Given the description of an element on the screen output the (x, y) to click on. 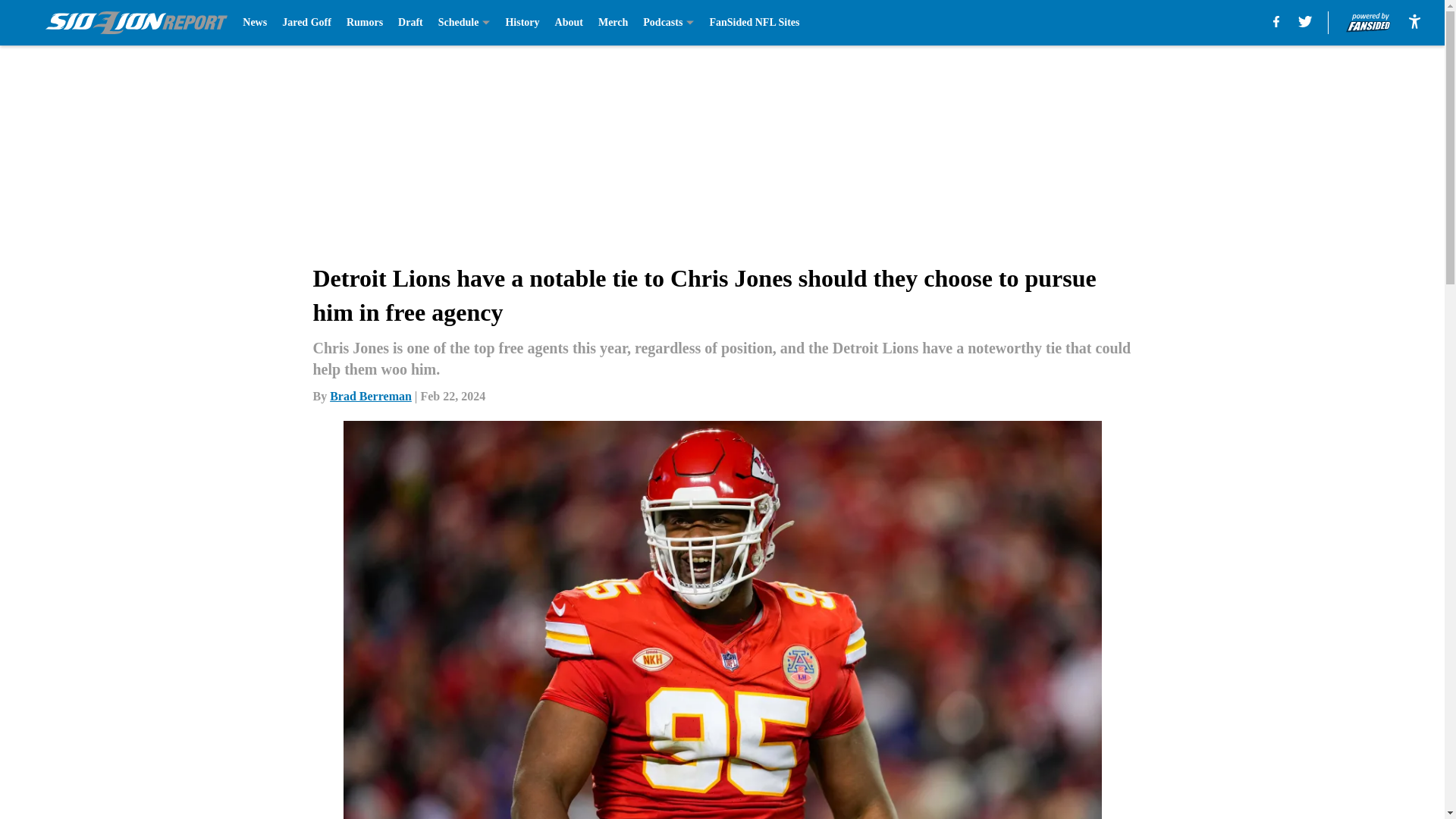
Draft (410, 22)
Rumors (364, 22)
Brad Berreman (371, 395)
Merch (612, 22)
News (254, 22)
FanSided NFL Sites (754, 22)
Jared Goff (306, 22)
About (568, 22)
History (521, 22)
